Given the description of an element on the screen output the (x, y) to click on. 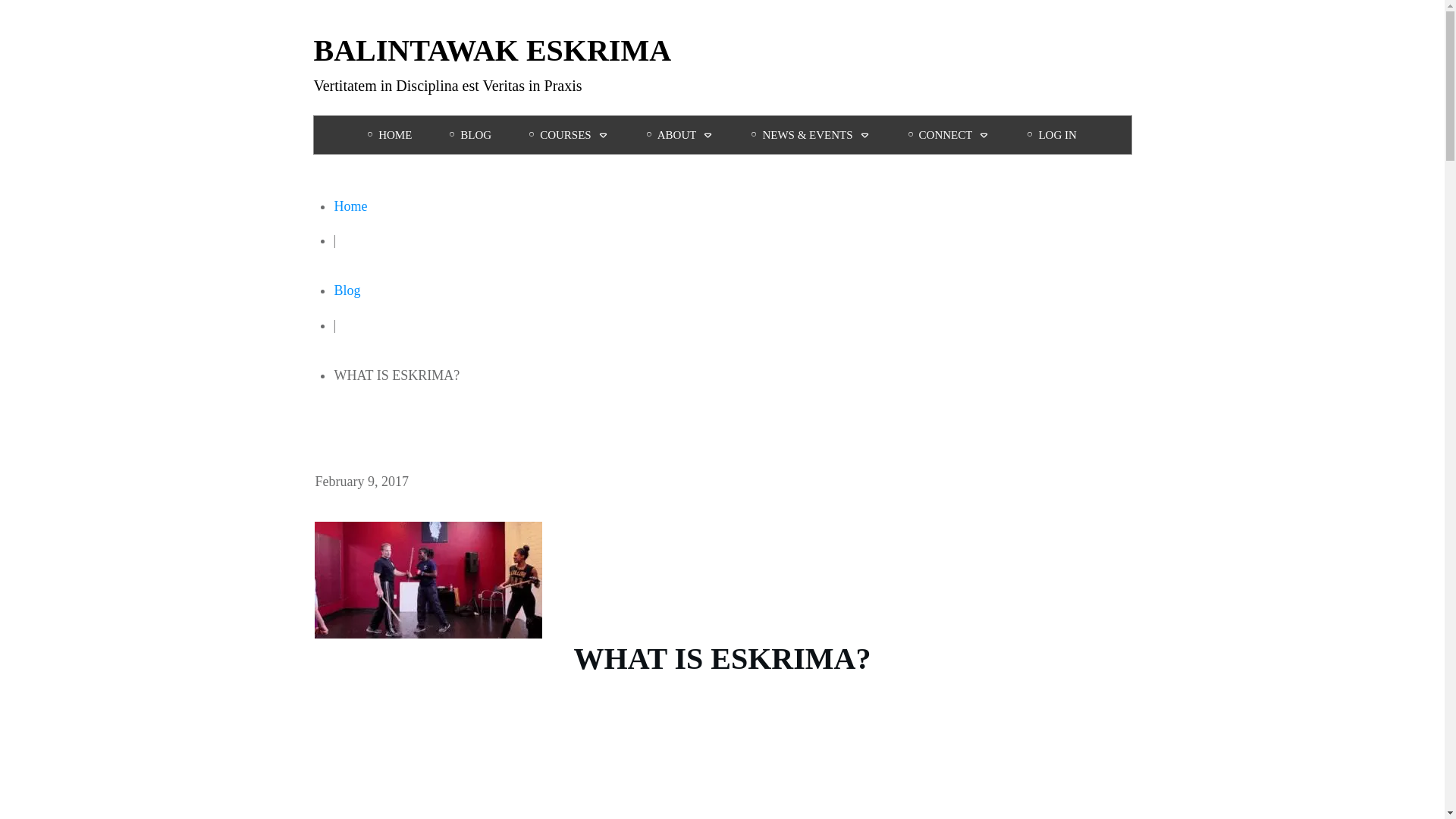
CONNECT (949, 134)
LOG IN (1051, 134)
Blog (346, 290)
HOME (390, 134)
Home (349, 206)
COURSES (568, 134)
BLOG (470, 134)
ABOUT (680, 134)
WHAT IS ESKRIMA? (428, 579)
